Given the description of an element on the screen output the (x, y) to click on. 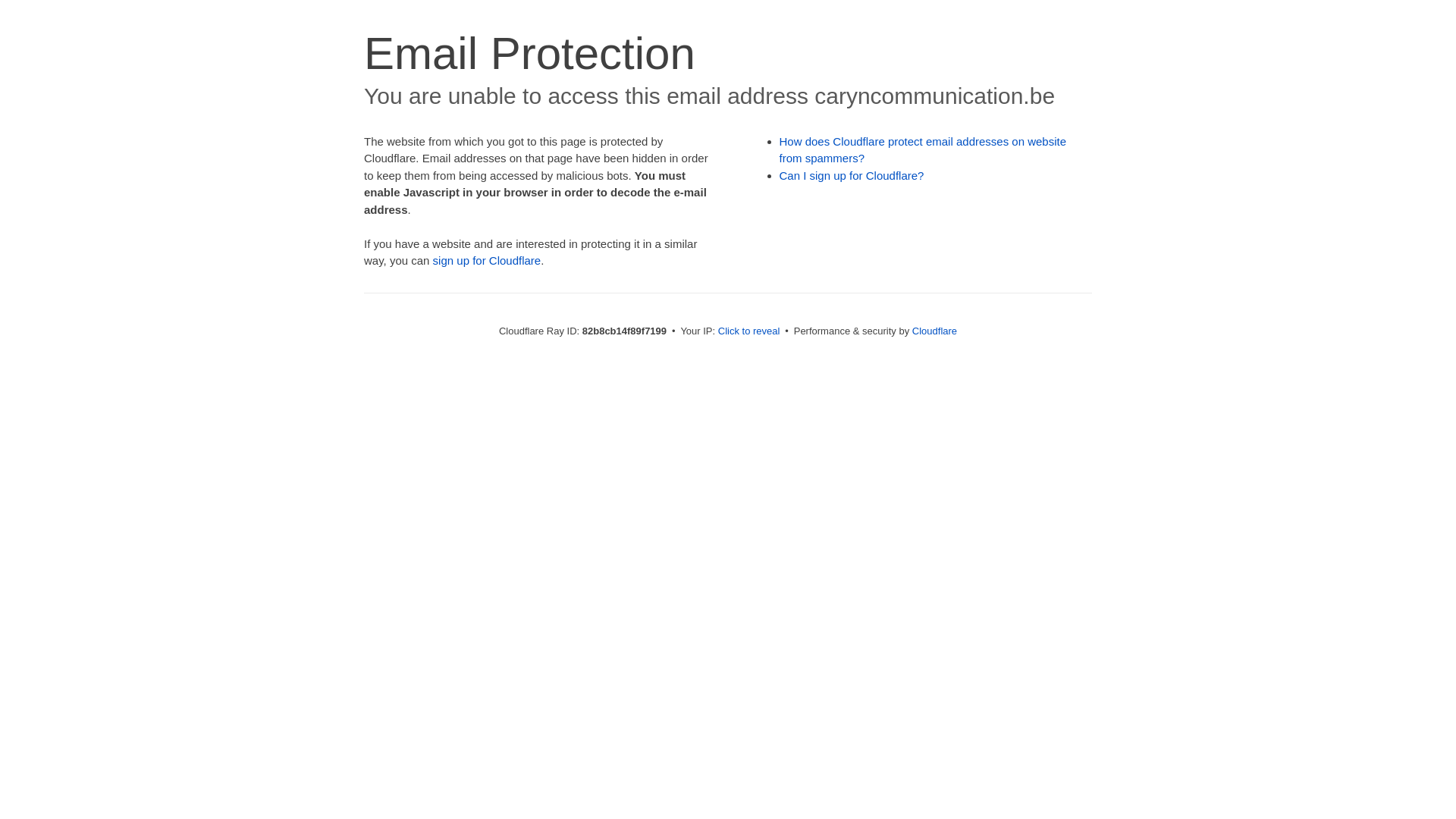
sign up for Cloudflare Element type: text (487, 260)
Can I sign up for Cloudflare? Element type: text (851, 175)
Click to reveal Element type: text (749, 330)
Cloudflare Element type: text (934, 330)
